Given the description of an element on the screen output the (x, y) to click on. 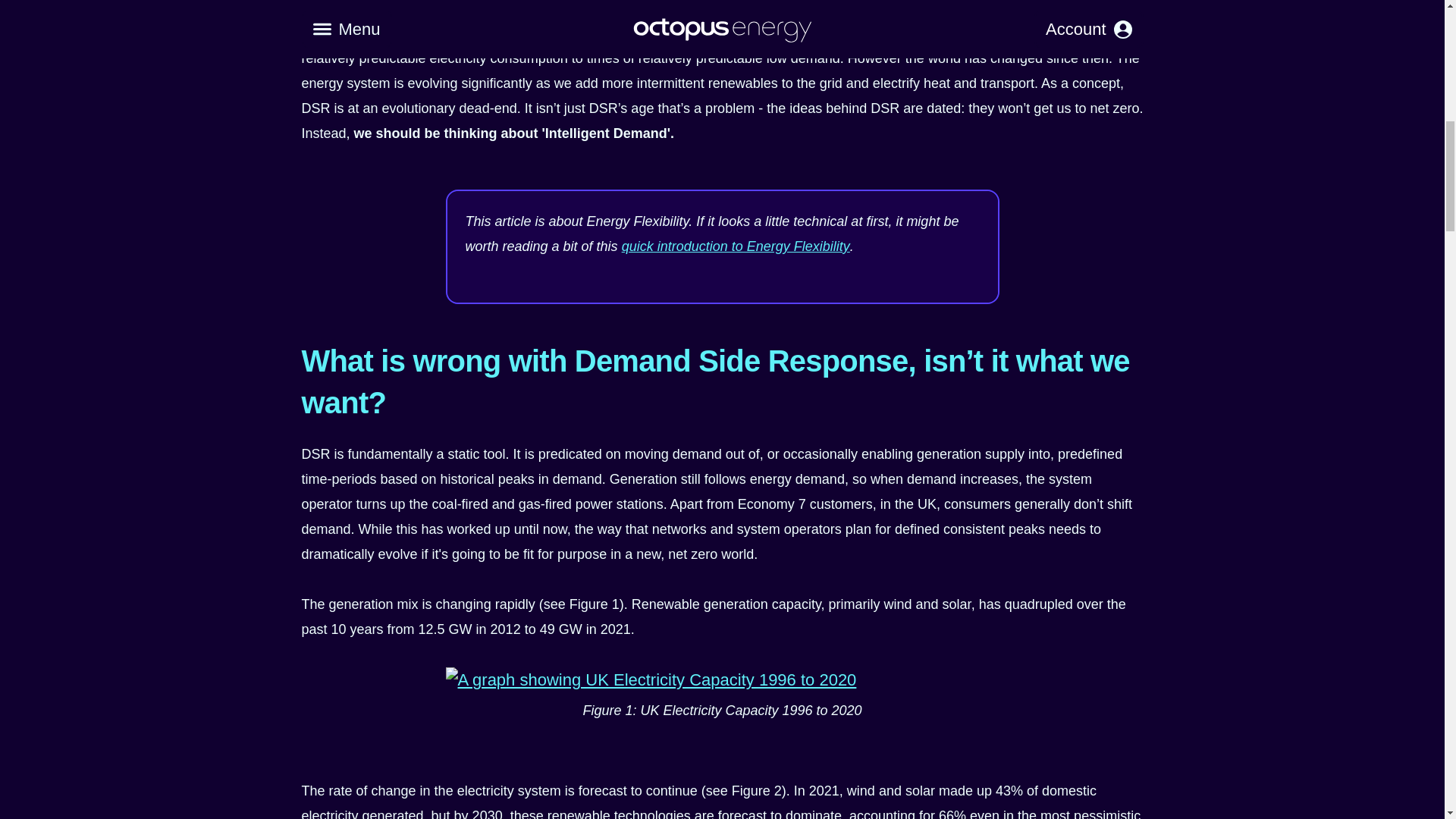
quick introduction to Energy Flexibility (735, 246)
